Given the description of an element on the screen output the (x, y) to click on. 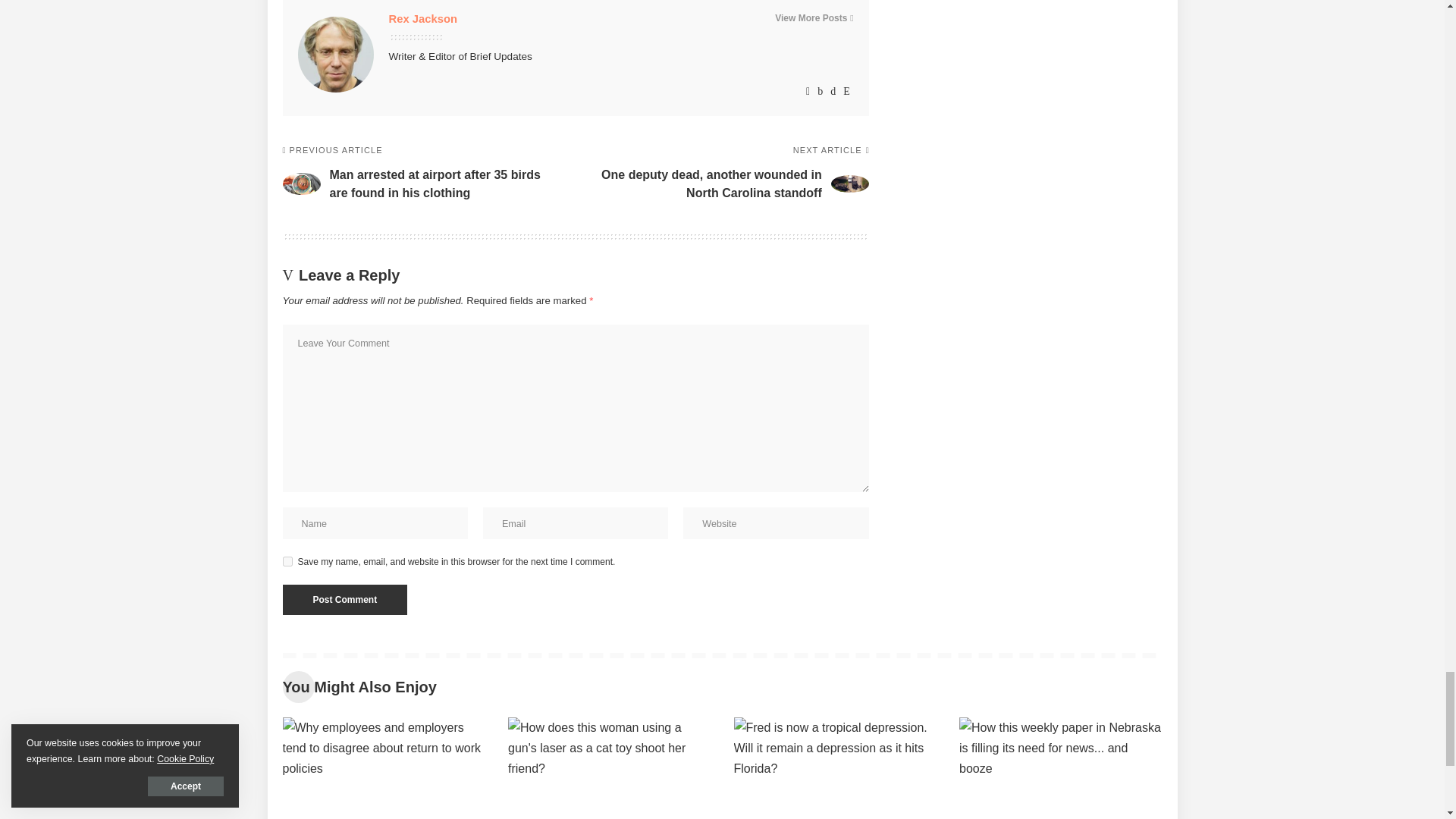
Post Comment (344, 599)
yes (287, 561)
